Given the description of an element on the screen output the (x, y) to click on. 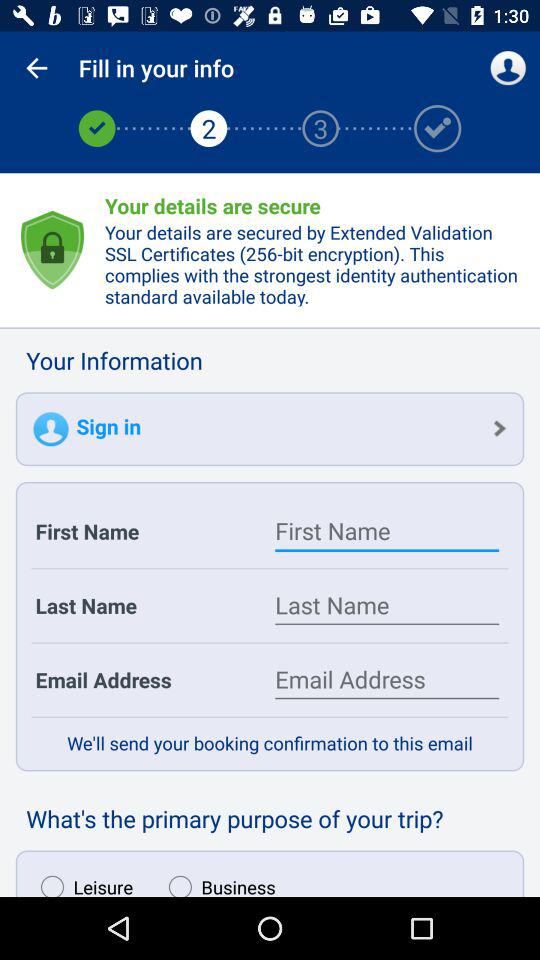
enter email address (387, 679)
